Given the description of an element on the screen output the (x, y) to click on. 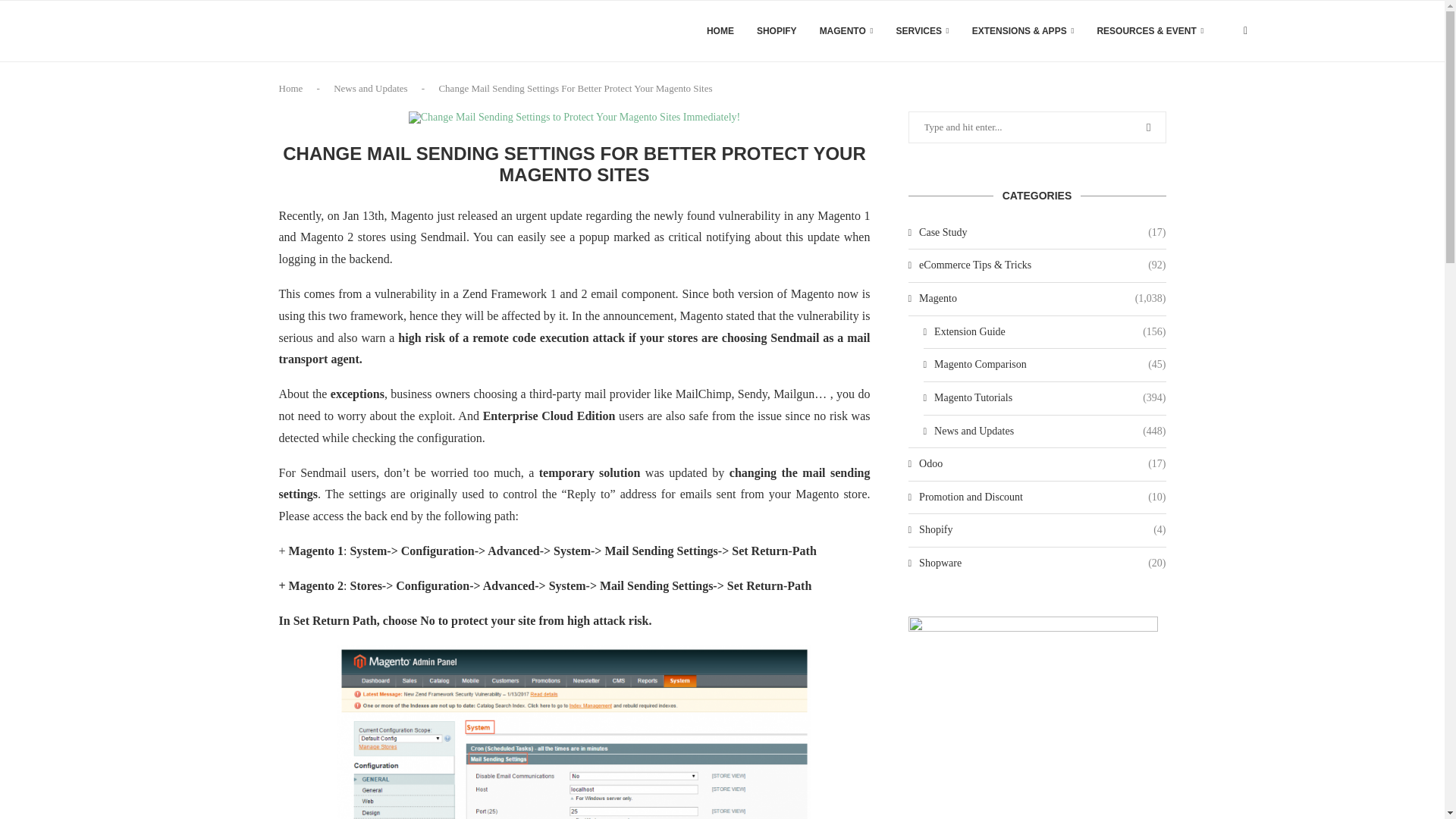
News and Updates (370, 88)
Home (290, 88)
